Given the description of an element on the screen output the (x, y) to click on. 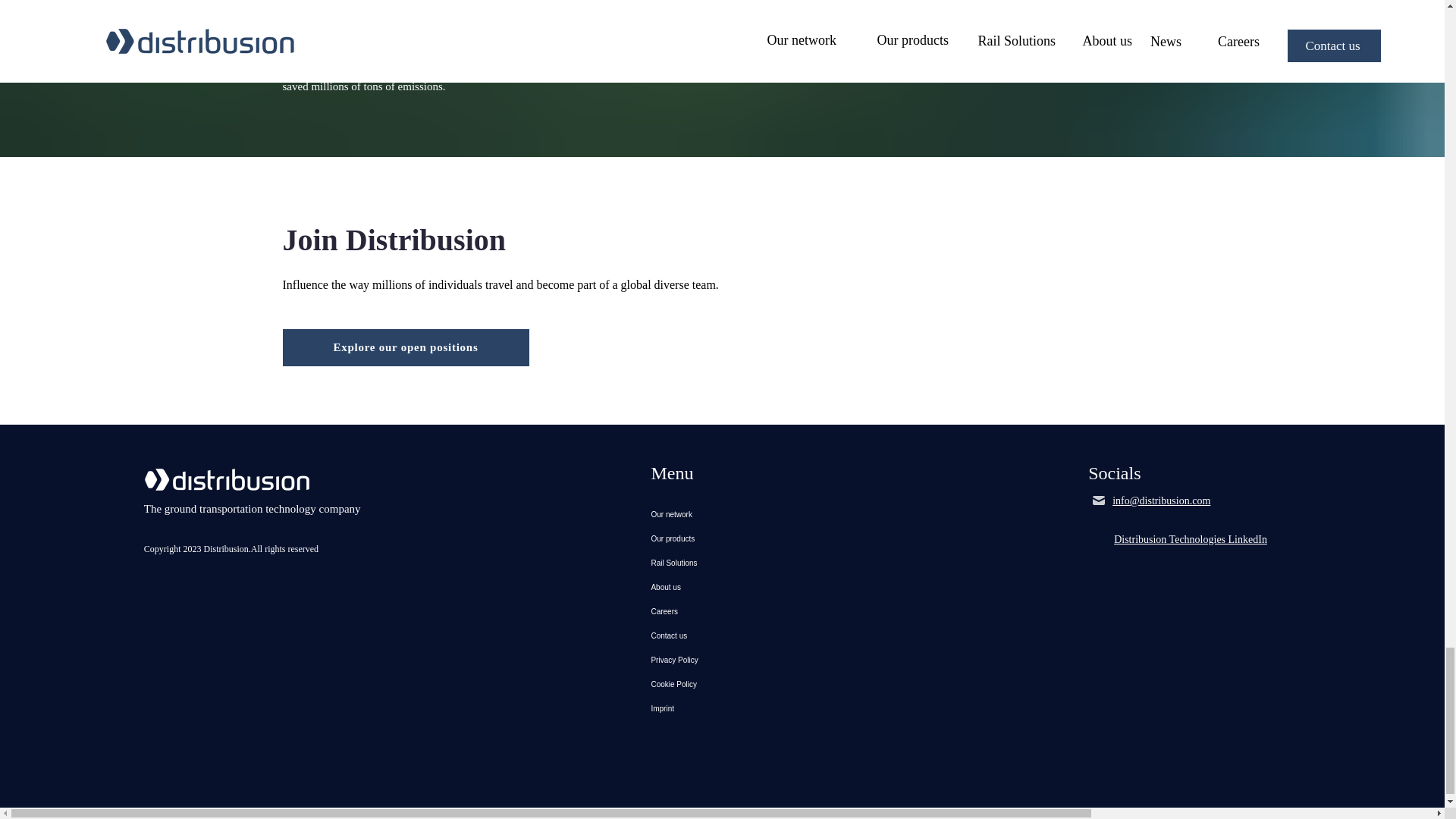
Cookie Policy (721, 684)
About us (721, 587)
Imprint (721, 708)
Careers (721, 611)
Contact us (721, 636)
Distribusion Technologies LinkedIn (1189, 539)
Explore our open positions (405, 347)
Our network (721, 514)
Our products (721, 539)
Privacy Policy (721, 660)
Rail Solutions (721, 563)
